Given the description of an element on the screen output the (x, y) to click on. 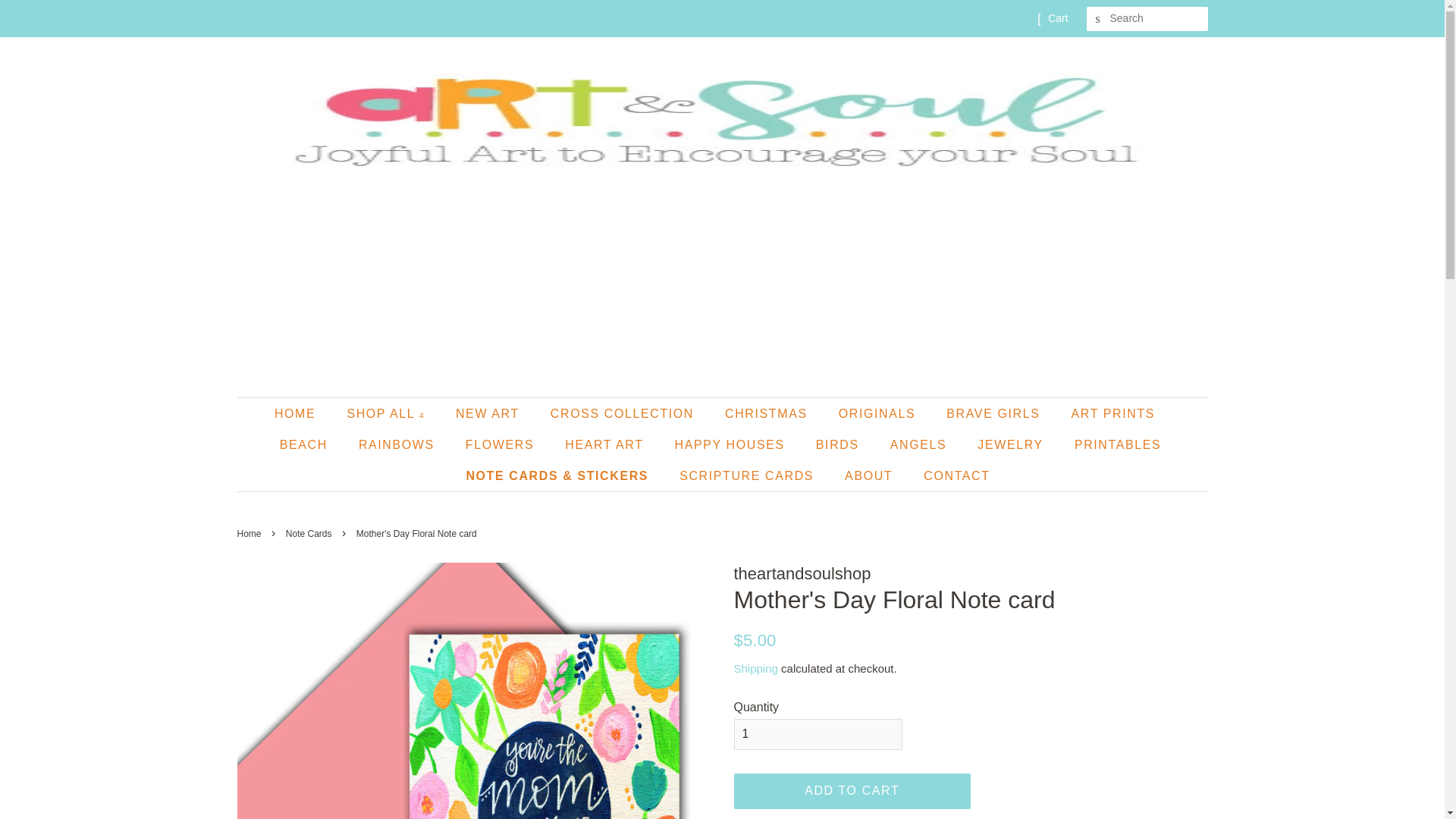
Back to the frontpage (249, 533)
1 (817, 734)
Cart (1057, 18)
HOME (302, 413)
SEARCH (1097, 18)
SHOP ALL (386, 413)
